Given the description of an element on the screen output the (x, y) to click on. 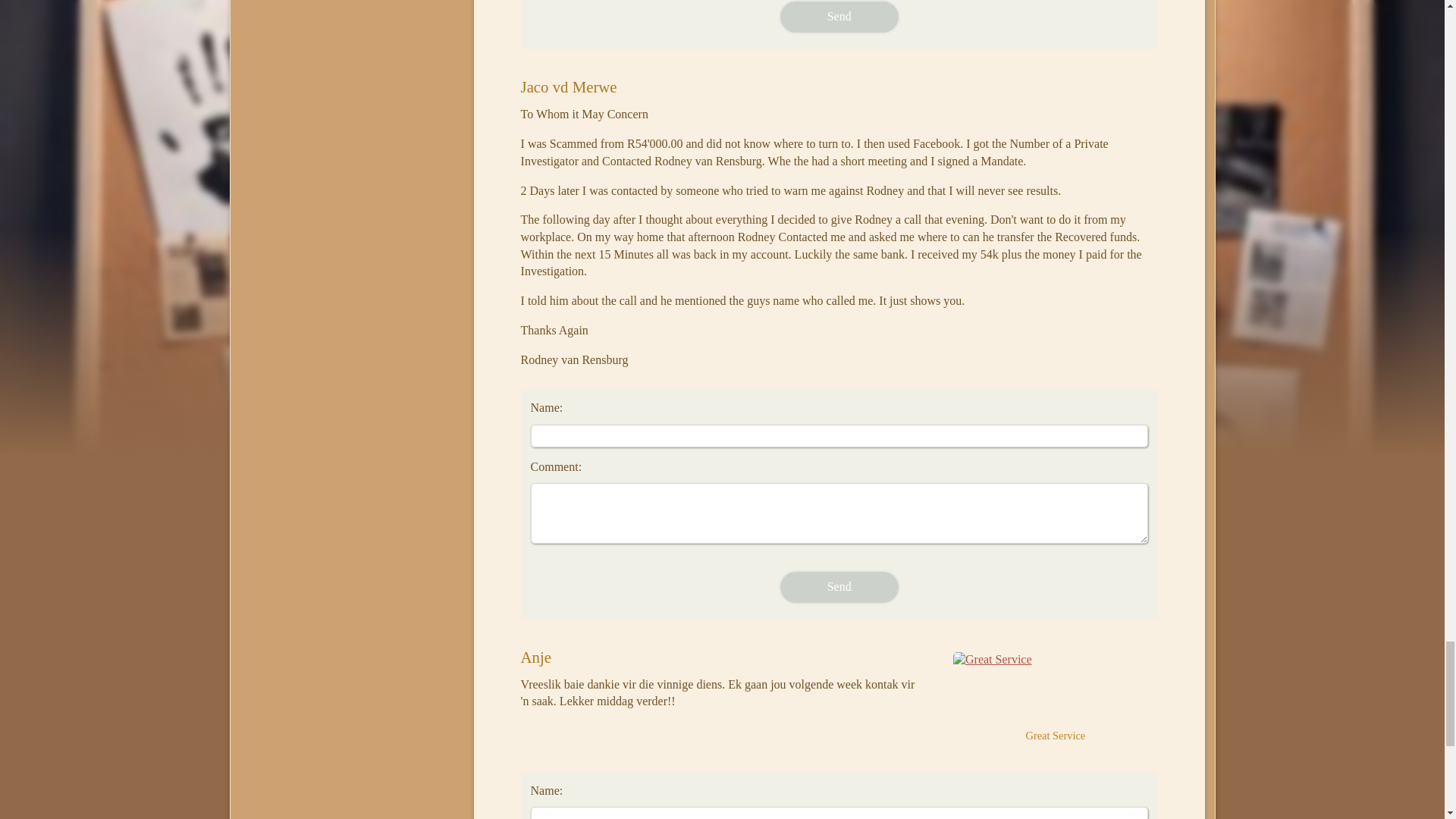
Send (838, 587)
Send (838, 17)
Send (838, 587)
Send (838, 17)
